Given the description of an element on the screen output the (x, y) to click on. 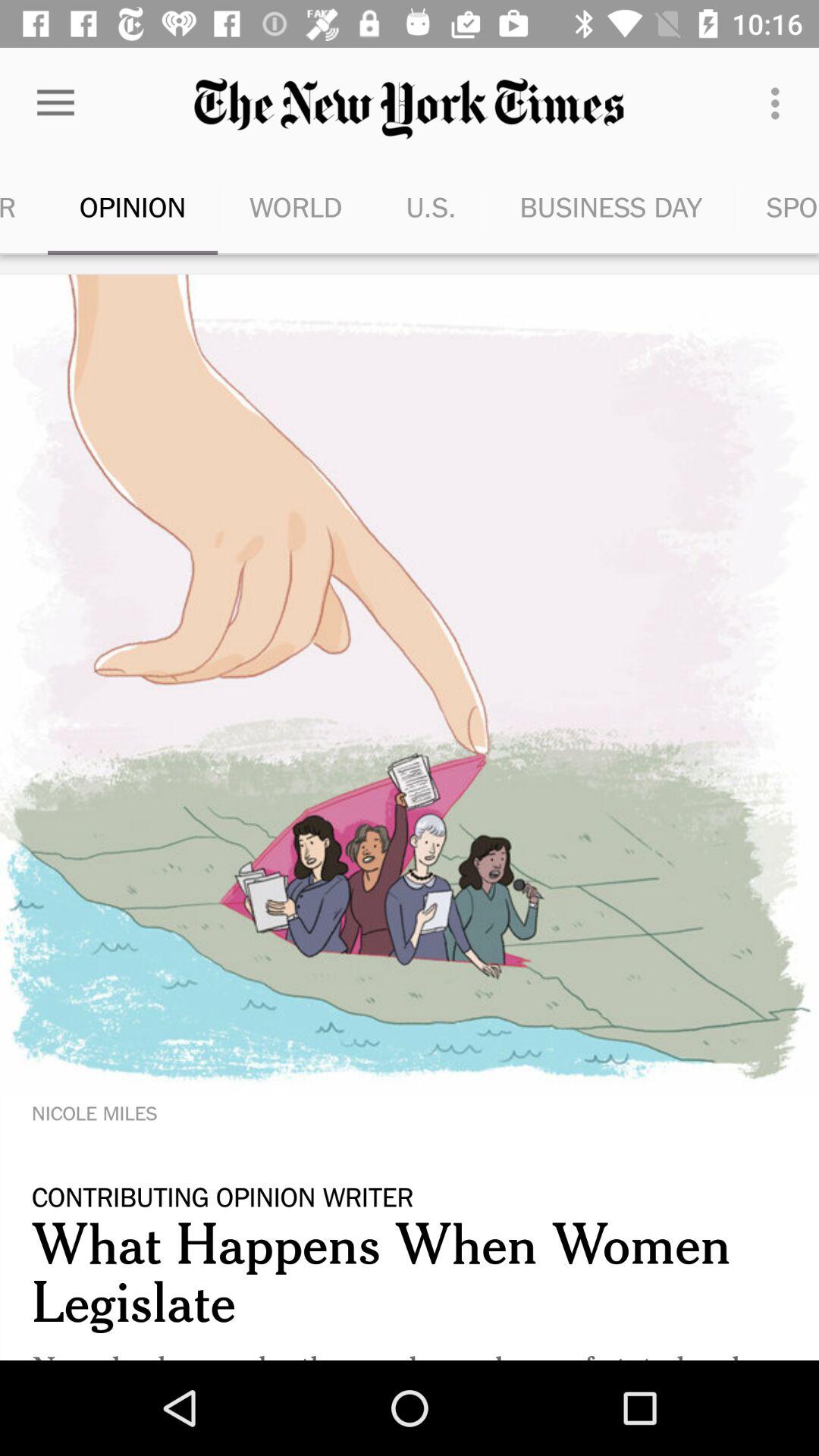
click the item to the left of the opinion item (23, 206)
